Given the description of an element on the screen output the (x, y) to click on. 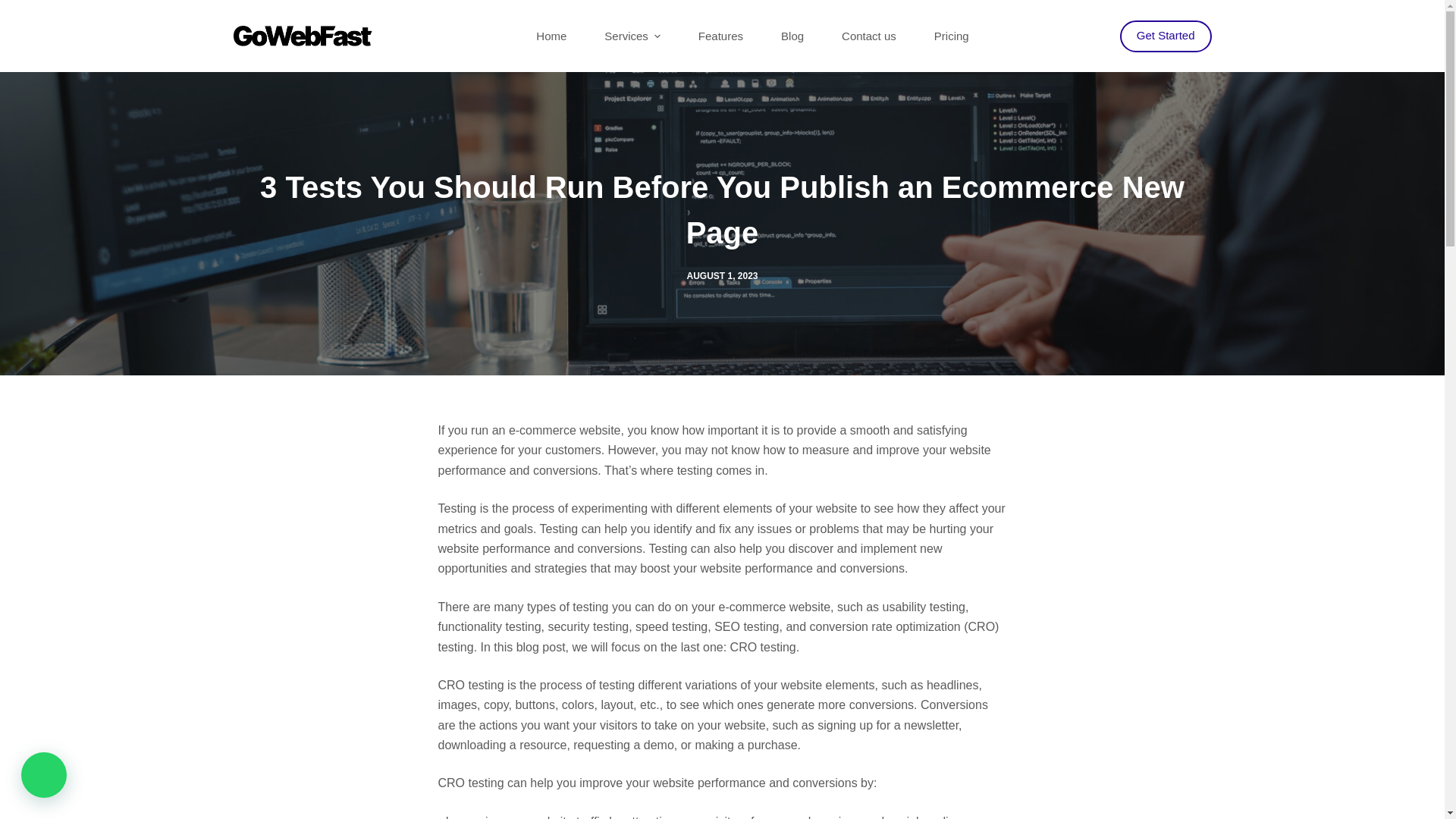
Skip to content (15, 7)
Services (632, 35)
Home (550, 35)
